Given the description of an element on the screen output the (x, y) to click on. 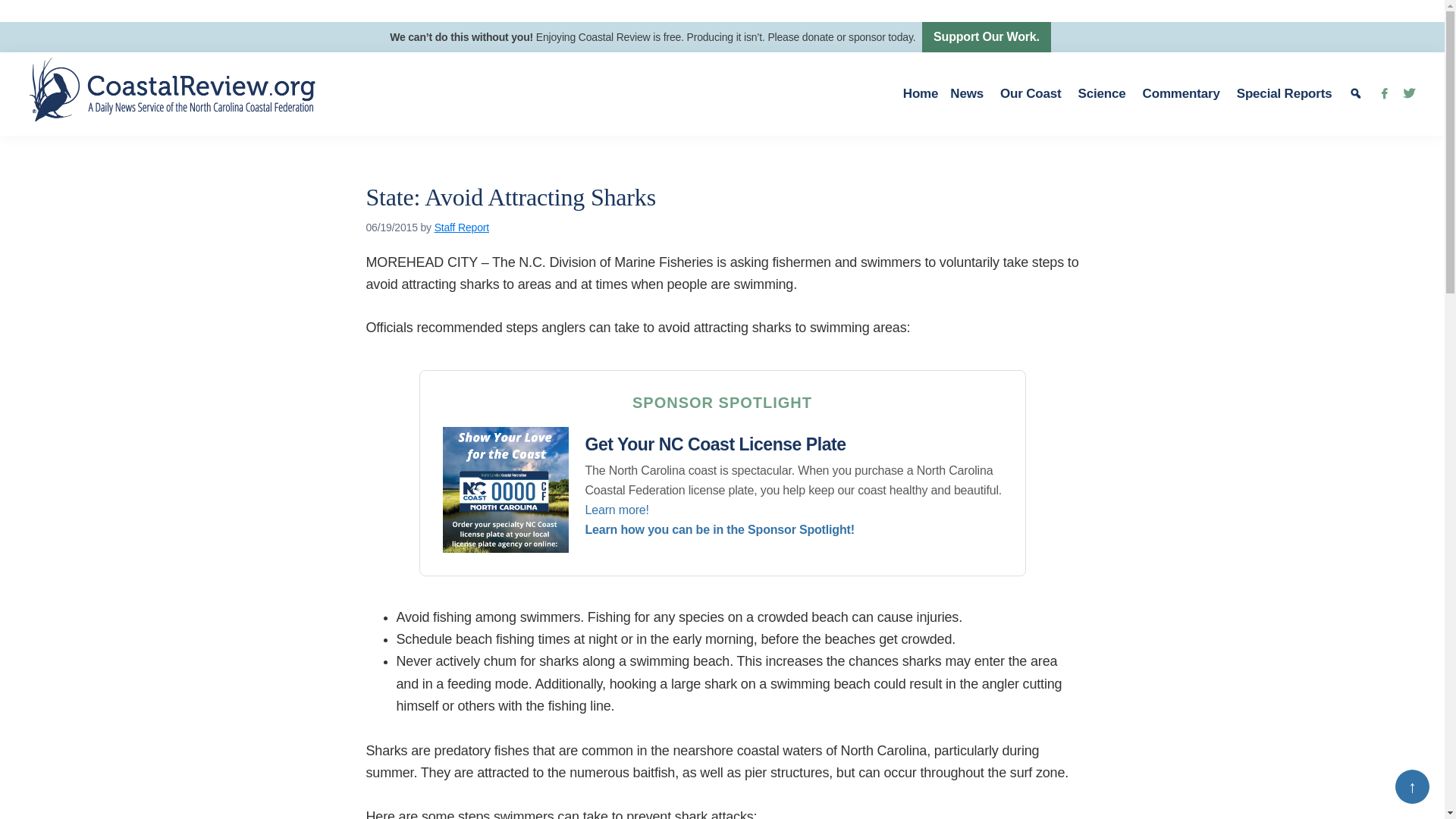
Our Coast (1032, 93)
Support Our Work. (986, 37)
Support Our Work (986, 37)
